Given the description of an element on the screen output the (x, y) to click on. 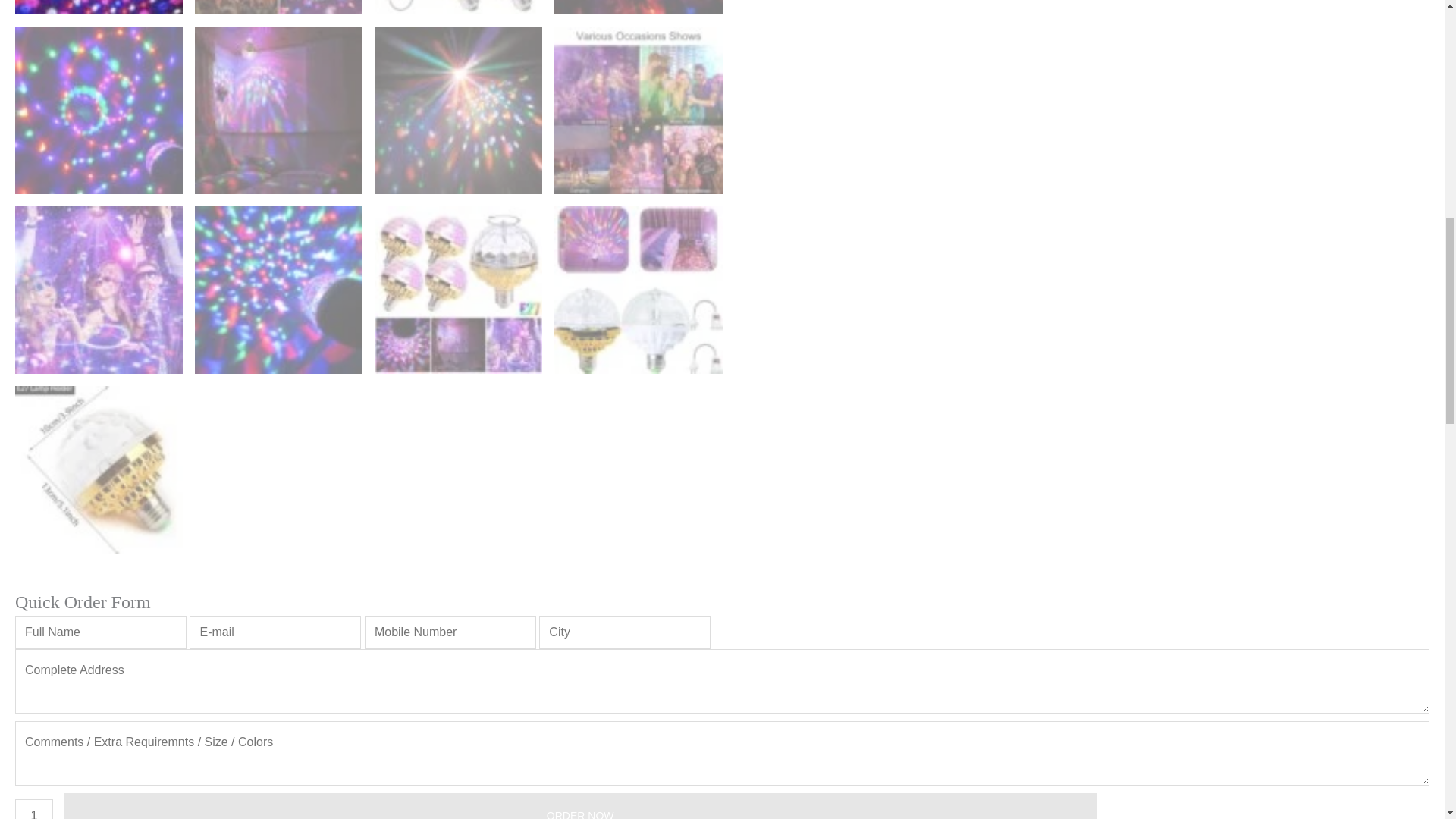
ORDER NOW (580, 806)
1 (33, 809)
Please Enter Valid Mobile Number (450, 632)
ORDER NOW (580, 806)
